Given the description of an element on the screen output the (x, y) to click on. 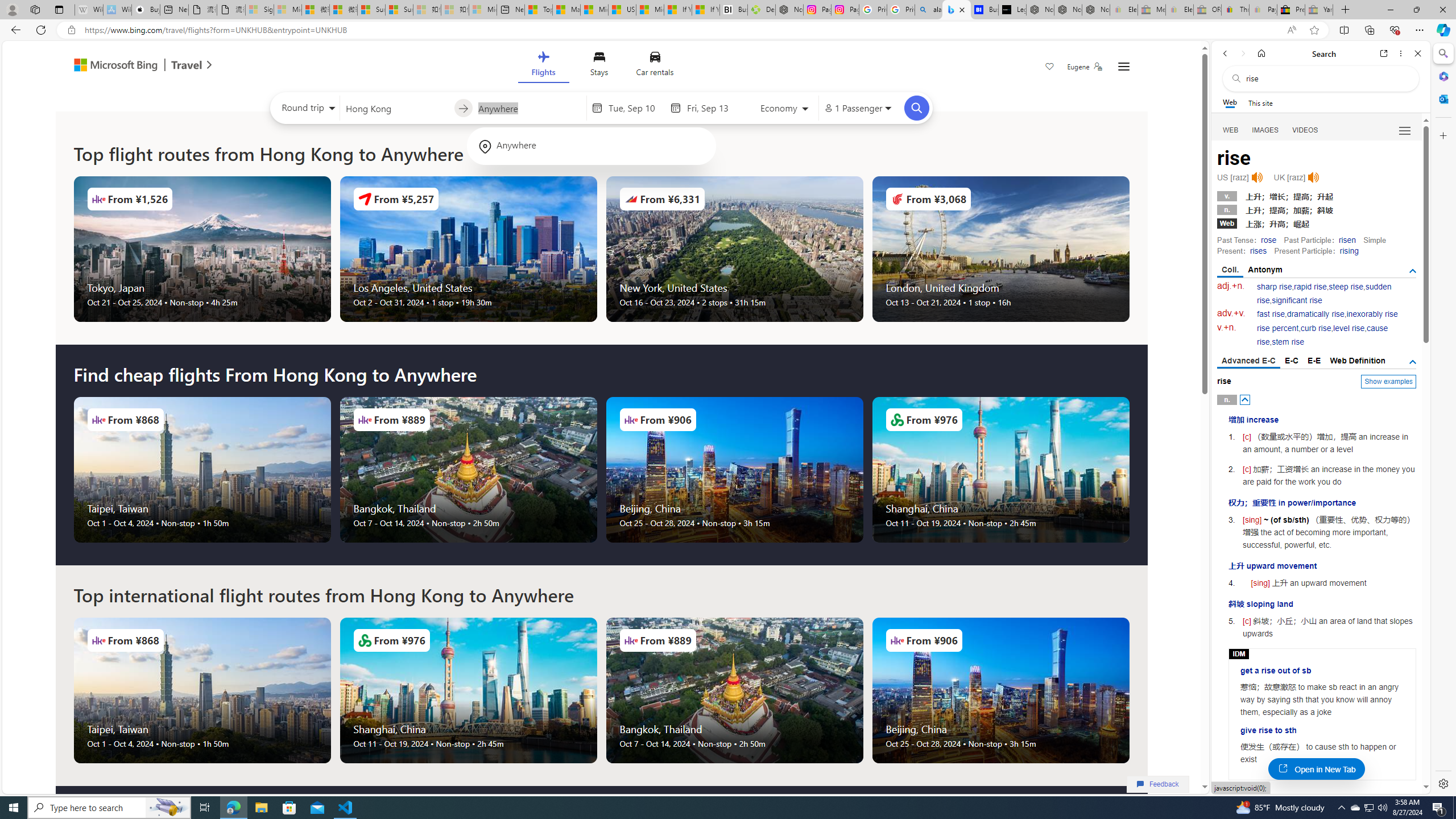
US Heat Deaths Soared To Record High Last Year (621, 9)
Sign in to your Microsoft account - Sleeping (259, 9)
rose (1268, 239)
Leaving from? (396, 107)
Descarga Driver Updater (761, 9)
End date (713, 107)
E-C (1291, 360)
Class: msft-travel-logo (186, 64)
Buy iPad - Apple (145, 9)
Save (1049, 67)
